Given the description of an element on the screen output the (x, y) to click on. 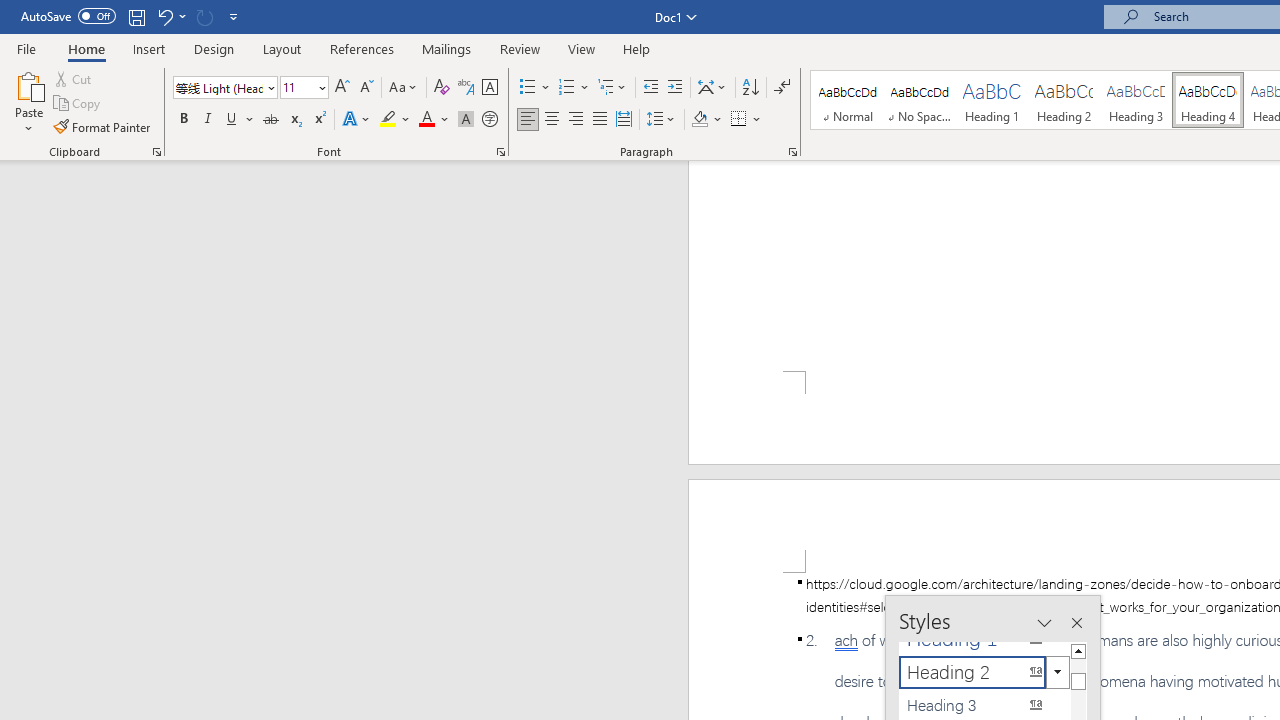
Heading 4 (1208, 100)
